Given the description of an element on the screen output the (x, y) to click on. 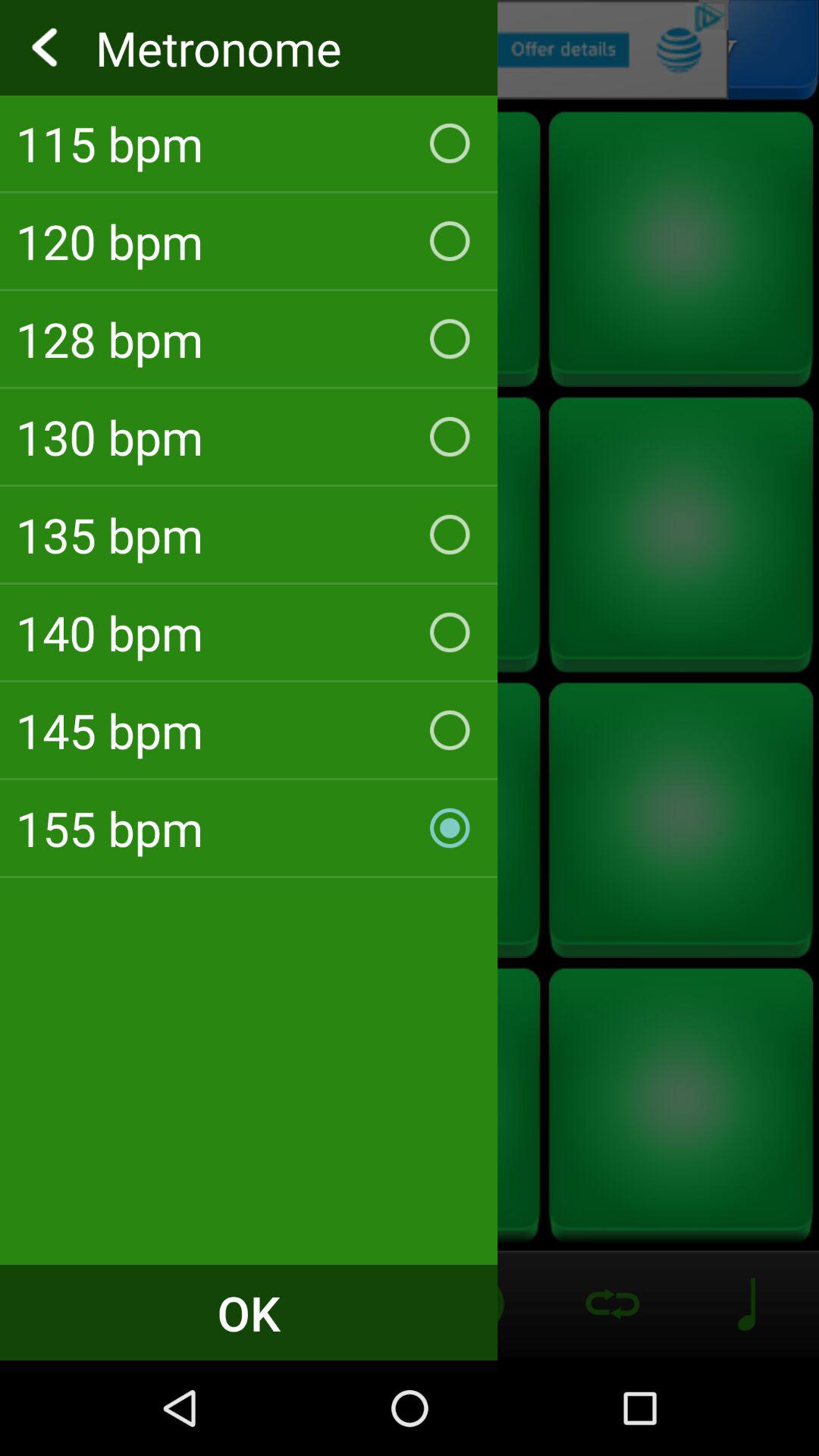
flip until 155 bpm checkbox (248, 827)
